Given the description of an element on the screen output the (x, y) to click on. 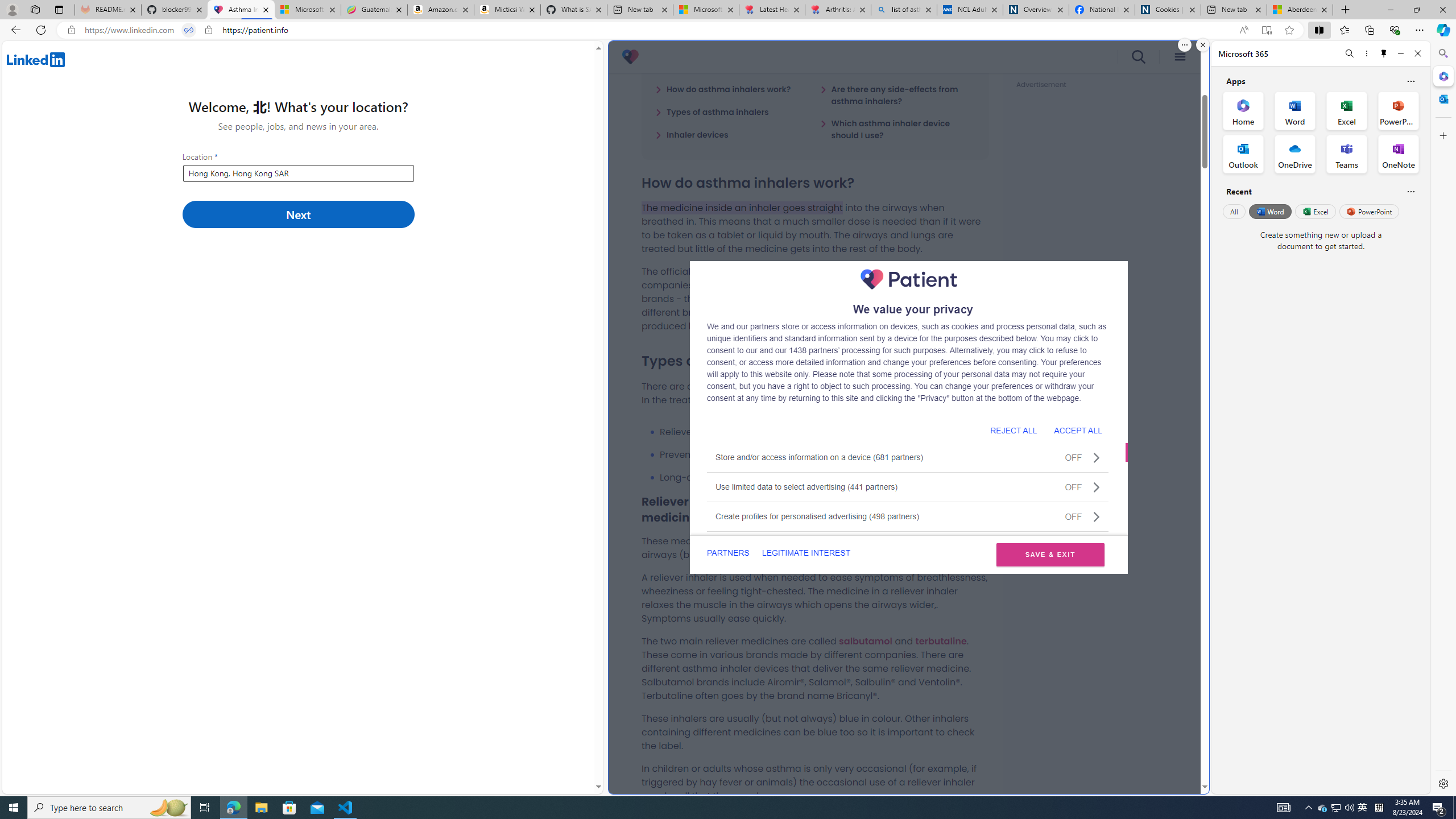
OneNote Office App (1398, 154)
Asthma Inhalers: Names and Types (240, 9)
Which asthma inhaler device should I use? (897, 129)
Patient 3.0 (630, 56)
Personal Profile (12, 9)
Preventers (steroid inhalers). (823, 454)
Microsoft-Report a Concern to Bing (307, 9)
Class: css-jswnc6 (1096, 516)
Outlook Office App (1243, 154)
